Given the description of an element on the screen output the (x, y) to click on. 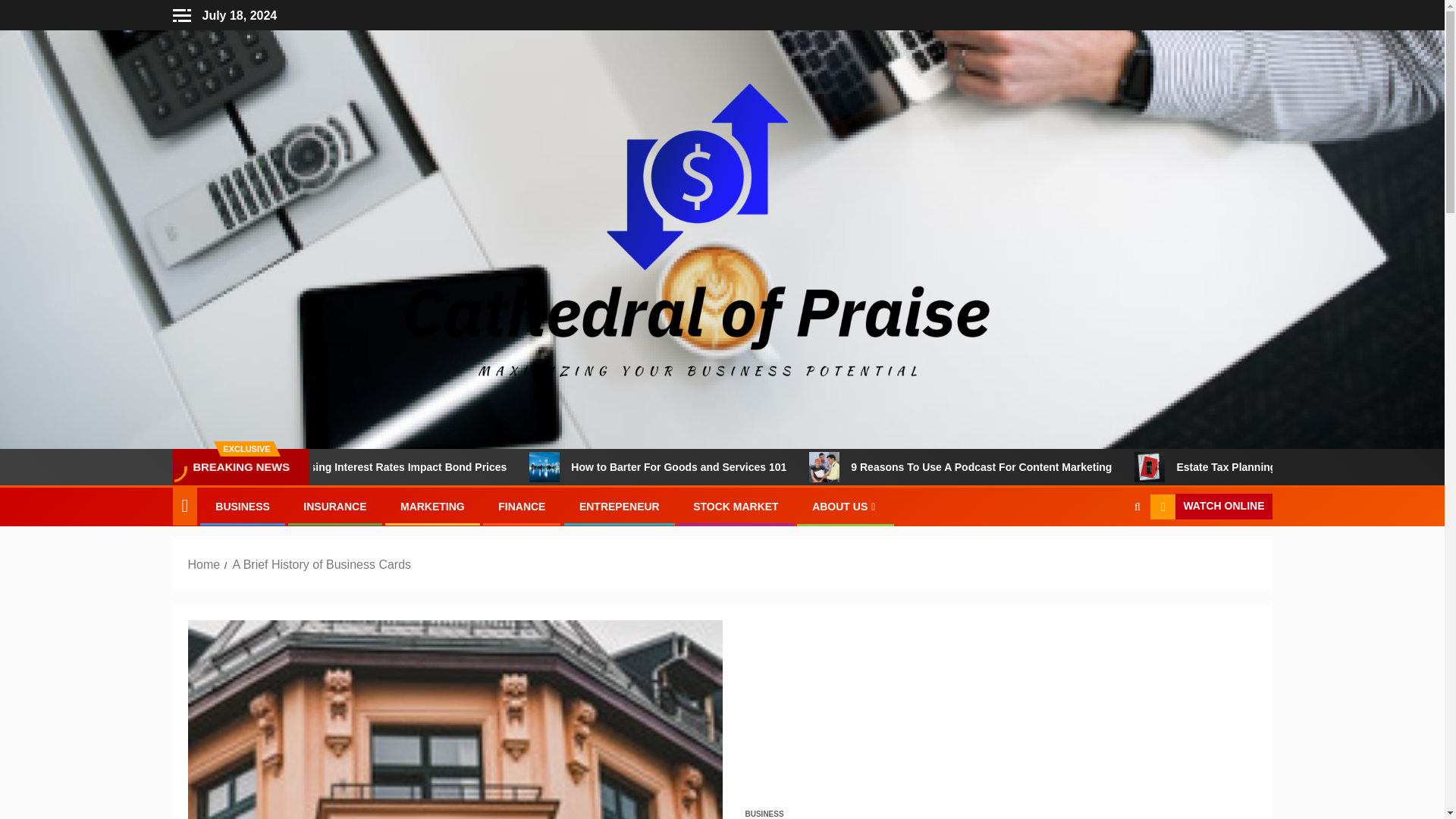
INSURANCE (334, 506)
A Brief History of Business Cards (320, 563)
FINANCE (520, 506)
How Rising Interest Rates Impact Bond Prices (459, 467)
BUSINESS (242, 506)
ABOUT US (845, 506)
How to Barter For Goods and Services 101 (746, 467)
Home (204, 563)
ENTREPENEUR (619, 506)
9 Reasons To Use A Podcast For Content Marketing (1048, 467)
BUSINESS (763, 812)
Search (1107, 553)
9 Reasons To Use A Podcast For Content Marketing (882, 467)
A Brief History of Business Cards (454, 719)
STOCK MARKET (735, 506)
